Given the description of an element on the screen output the (x, y) to click on. 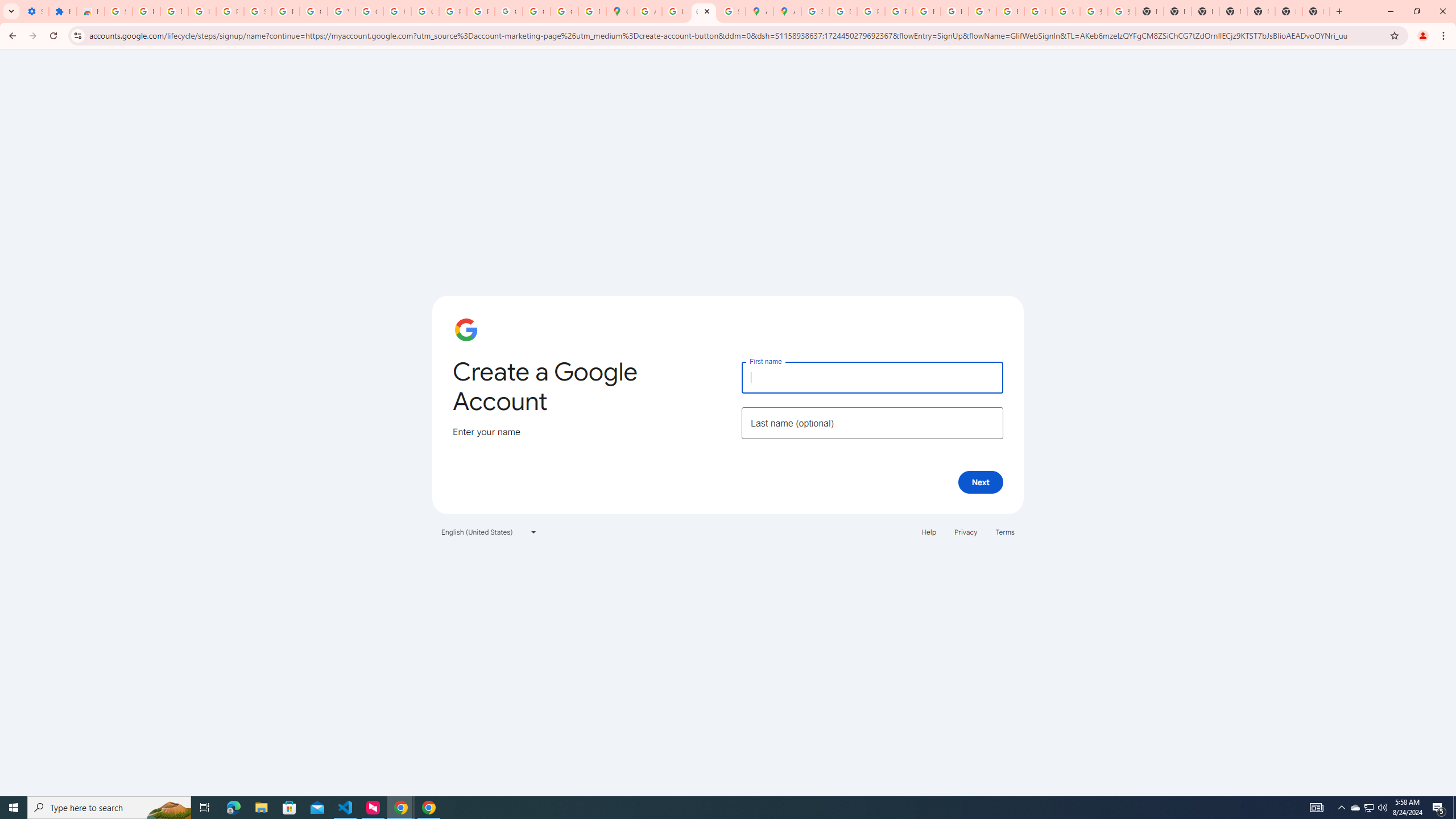
Privacy Help Center - Policies Help (898, 11)
Delete photos & videos - Computer - Google Photos Help (174, 11)
Privacy Help Center - Policies Help (870, 11)
